Given the description of an element on the screen output the (x, y) to click on. 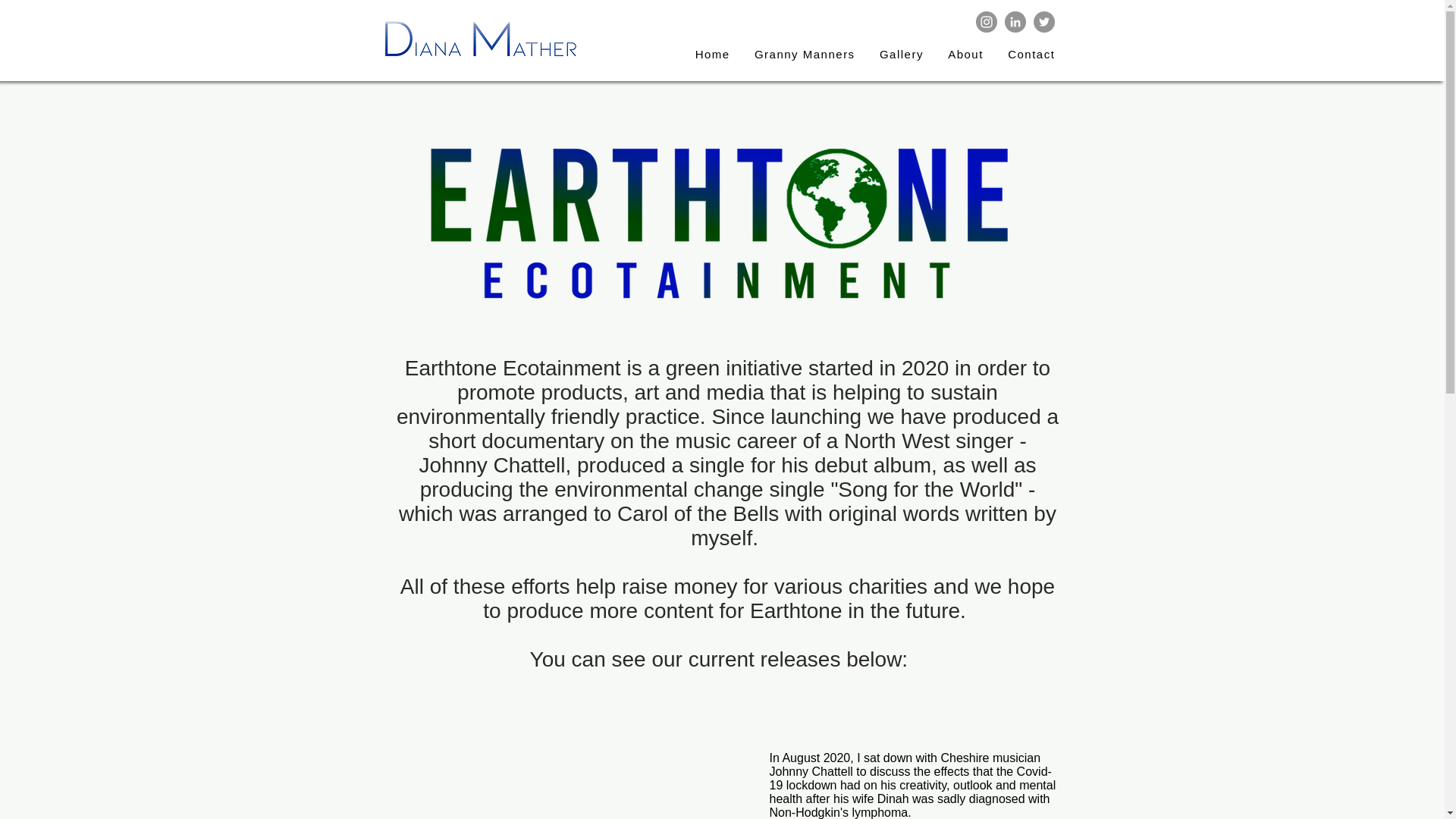
Home (711, 54)
Granny Manners (804, 54)
About (965, 54)
Contact (1031, 54)
Gallery (901, 54)
